Given the description of an element on the screen output the (x, y) to click on. 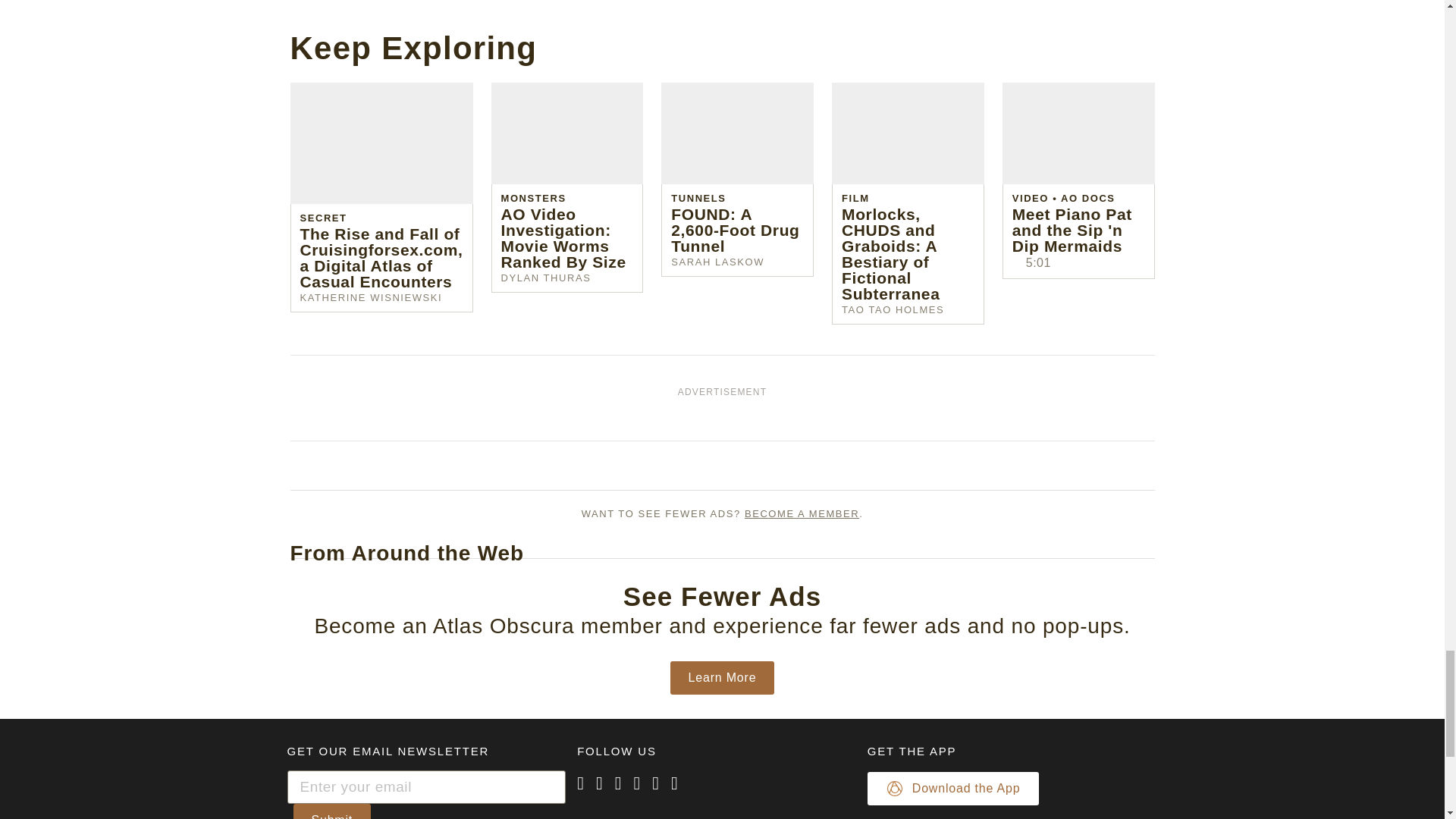
Submit (331, 811)
